Given the description of an element on the screen output the (x, y) to click on. 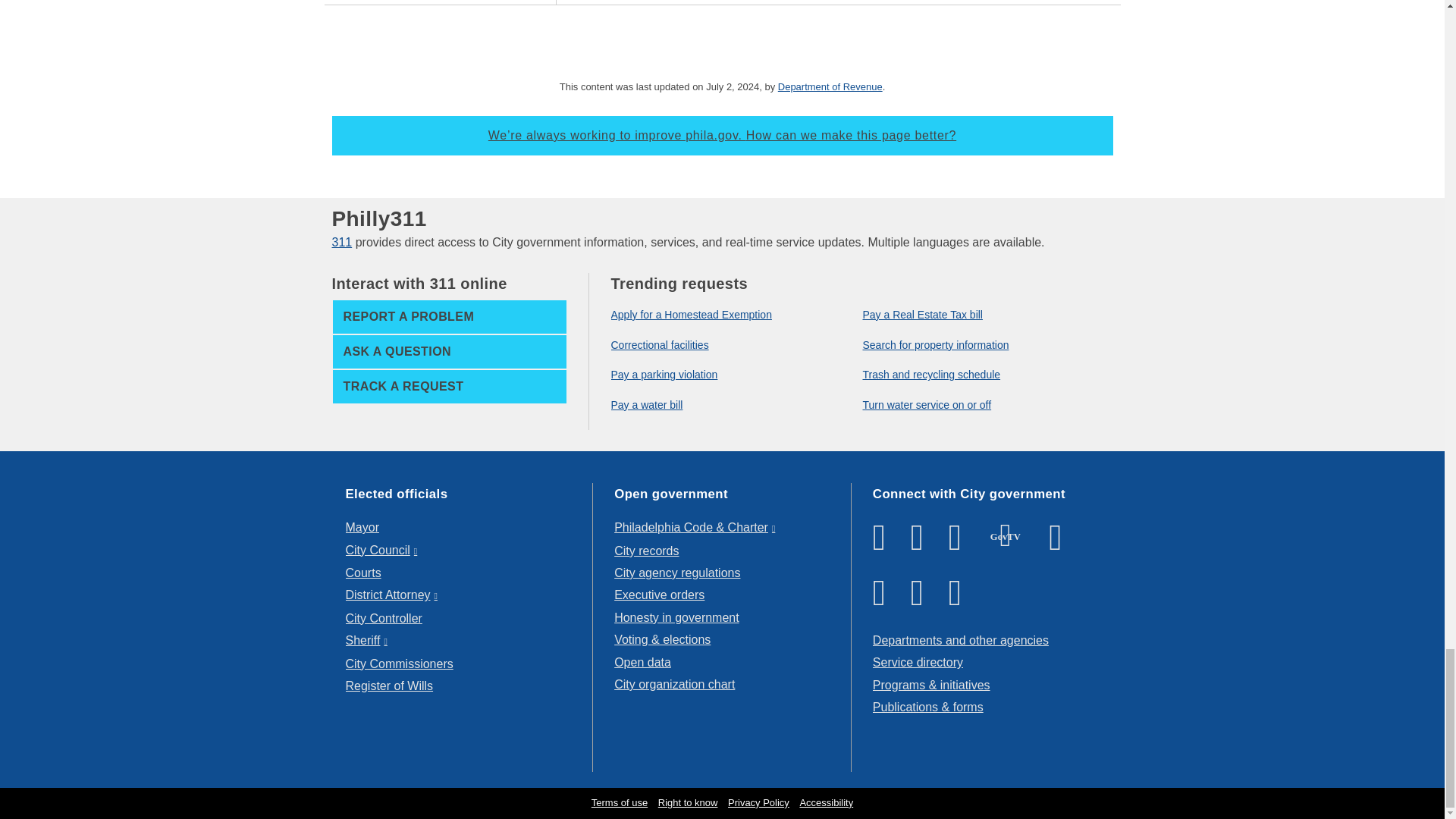
TV (1006, 535)
